Given the description of an element on the screen output the (x, y) to click on. 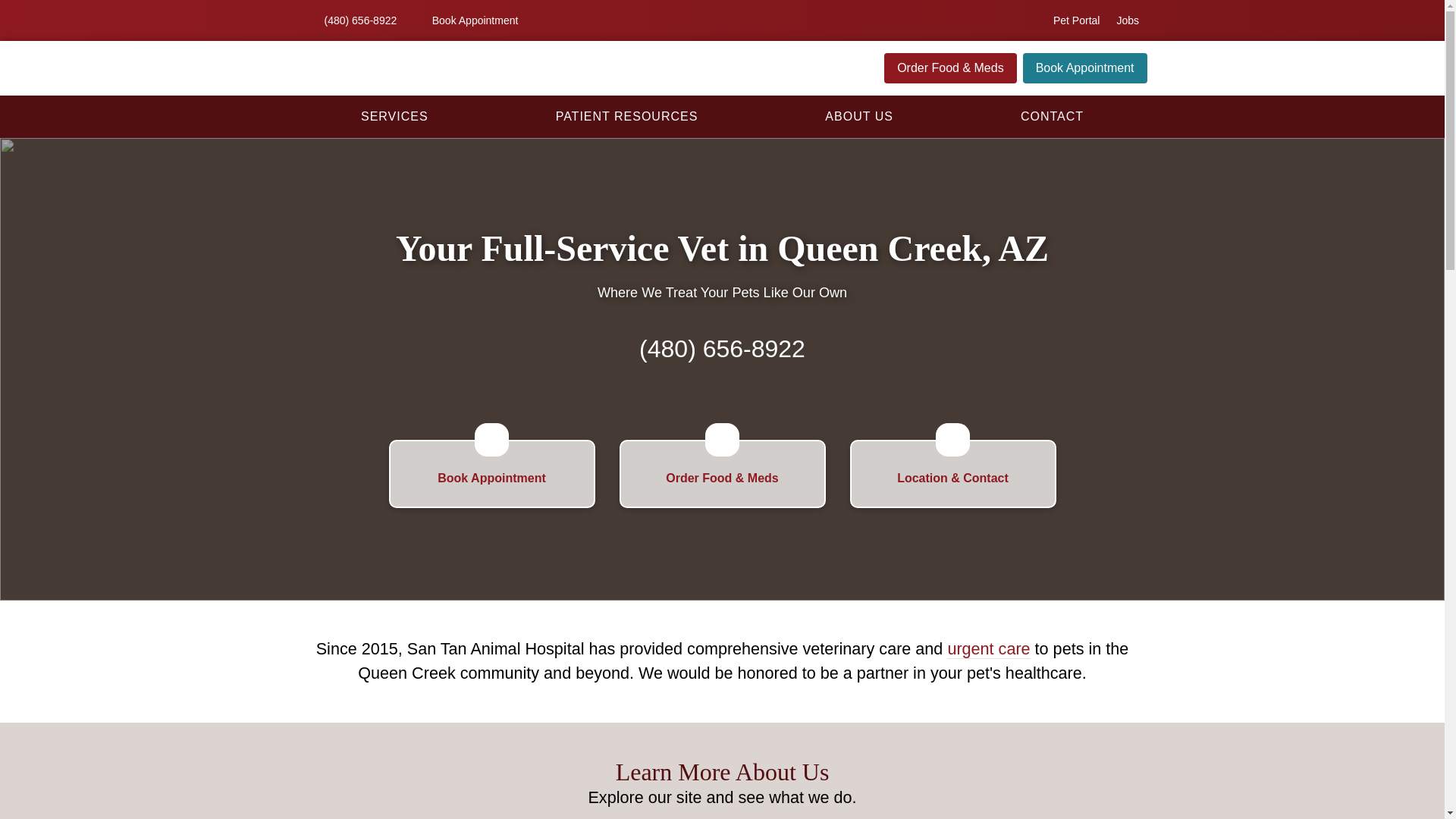
urgent care (988, 649)
CONTACT (1051, 116)
PATIENT RESOURCES (626, 116)
SERVICES (394, 116)
Pet Portal (1075, 20)
ABOUT US (858, 116)
Jobs (1127, 20)
Book Appointment (1085, 68)
Book Appointment (465, 20)
Book Appointment (491, 473)
